Given the description of an element on the screen output the (x, y) to click on. 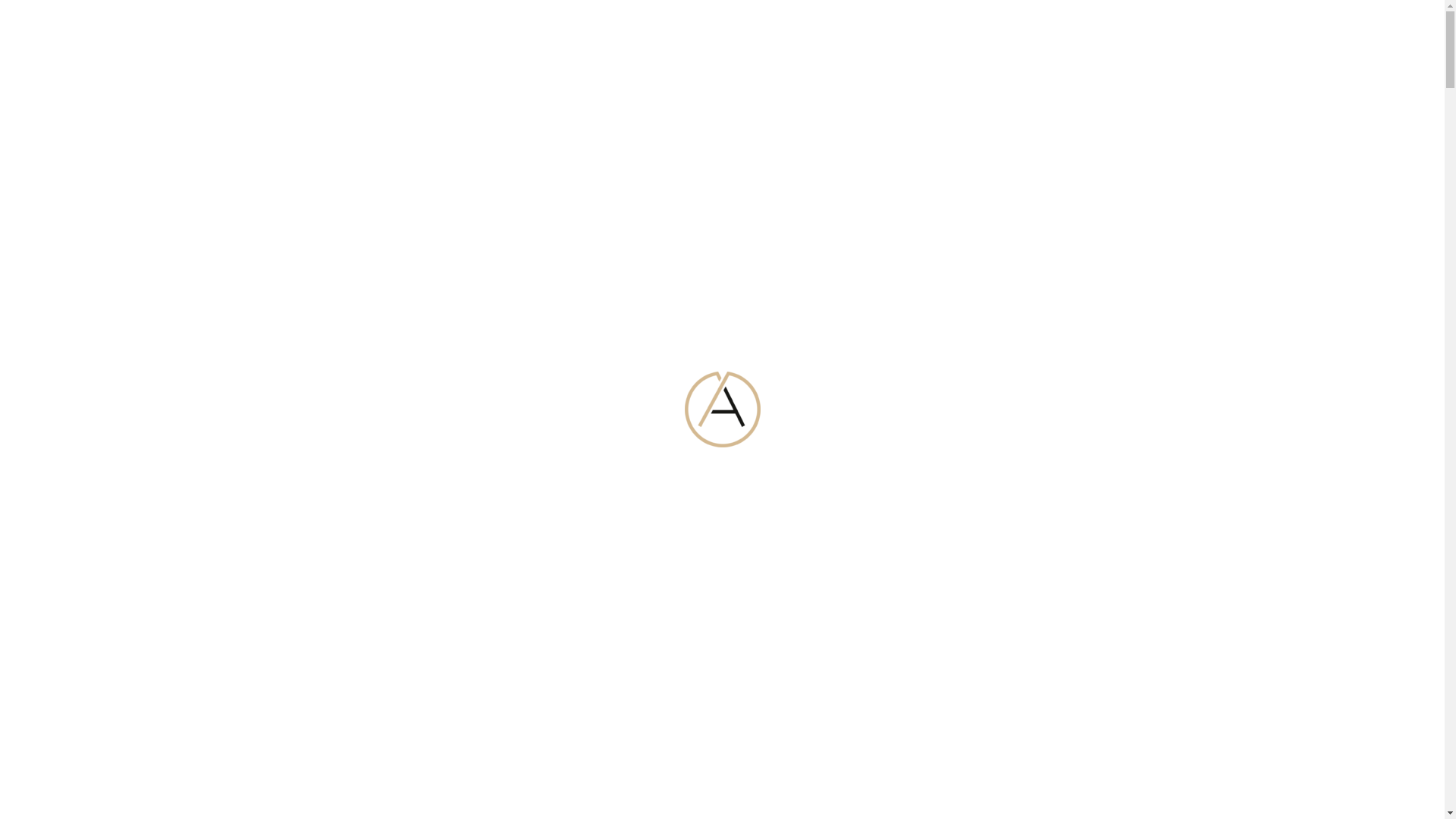
https://afbar.be/ Element type: text (670, 522)
